Given the description of an element on the screen output the (x, y) to click on. 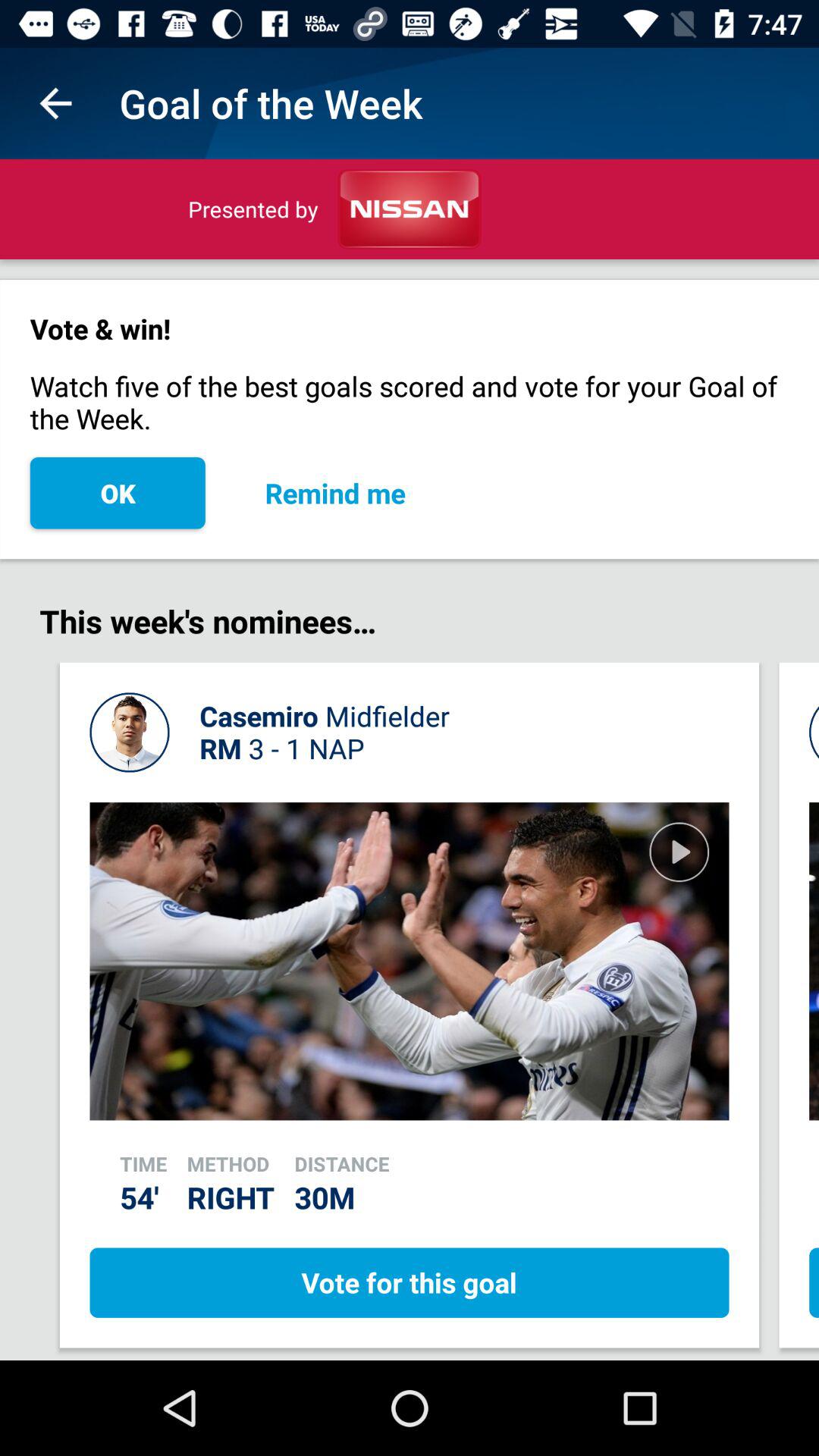
scroll to remind me (335, 492)
